Given the description of an element on the screen output the (x, y) to click on. 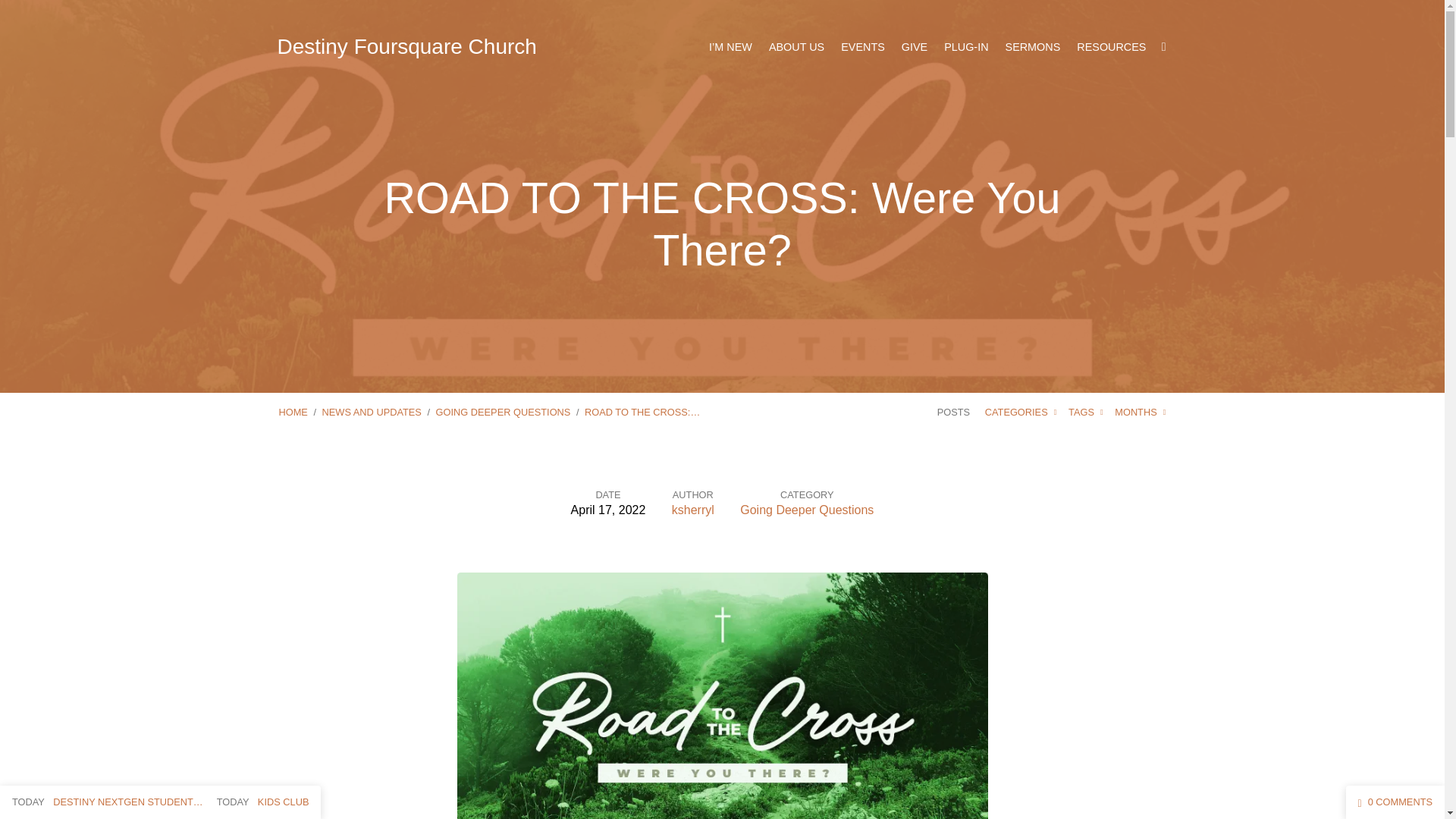
GOING DEEPER QUESTIONS (502, 411)
Destiny Foursquare Church (407, 46)
MONTHS (1140, 411)
HOME (293, 411)
ksherryl (692, 509)
EVENTS (863, 46)
TAGS (1085, 411)
CATEGORIES (1021, 411)
GIVE (914, 46)
ABOUT US (796, 46)
